Given the description of an element on the screen output the (x, y) to click on. 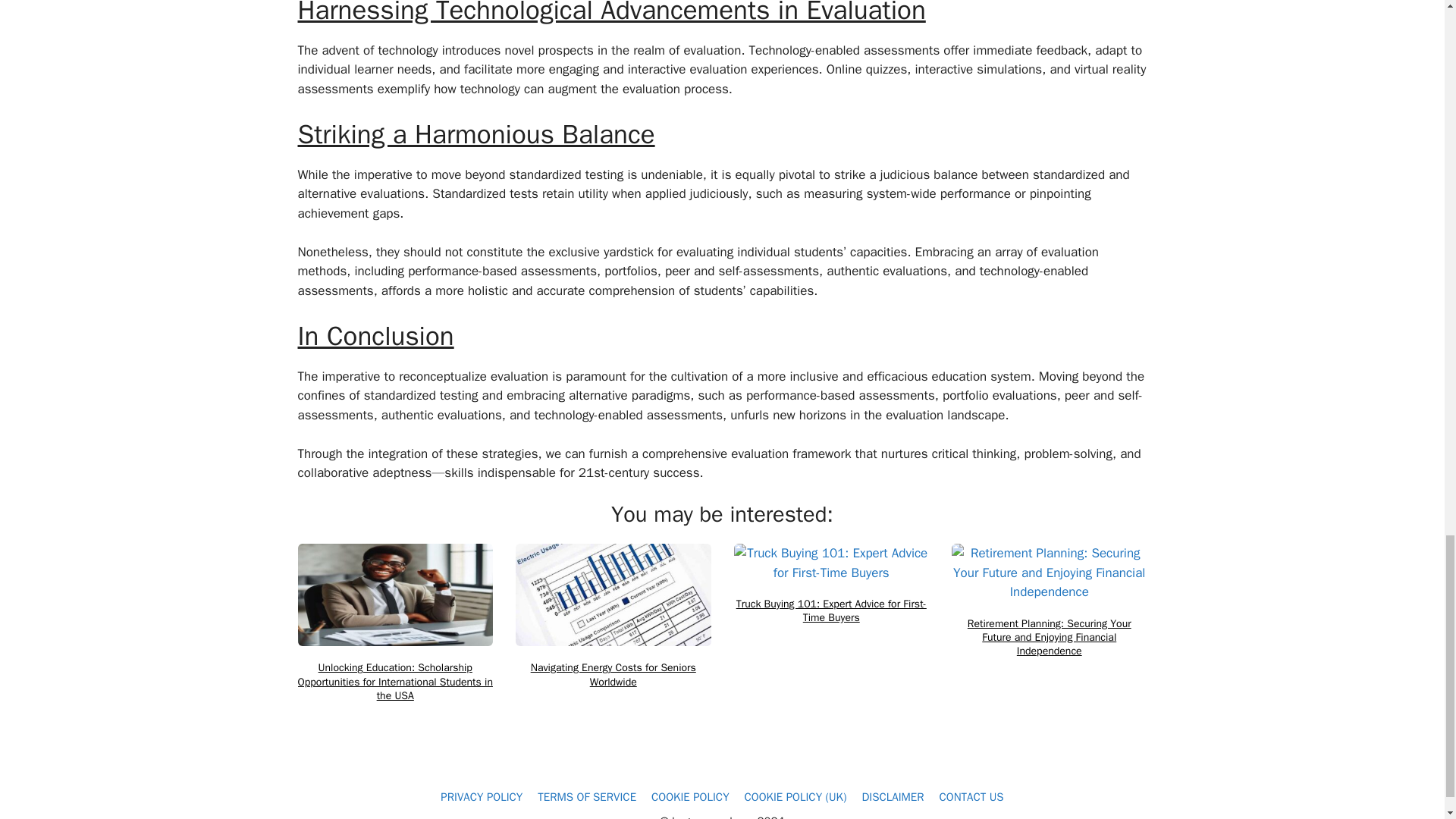
TERMS OF SERVICE (586, 796)
Truck Buying 101: Expert Advice for First-Time Buyers (831, 610)
DISCLAIMER (892, 796)
CONTACT US (971, 796)
Navigating Energy Costs for Seniors Worldwide (613, 674)
PRIVACY POLICY (481, 796)
COOKIE POLICY (689, 796)
